Given the description of an element on the screen output the (x, y) to click on. 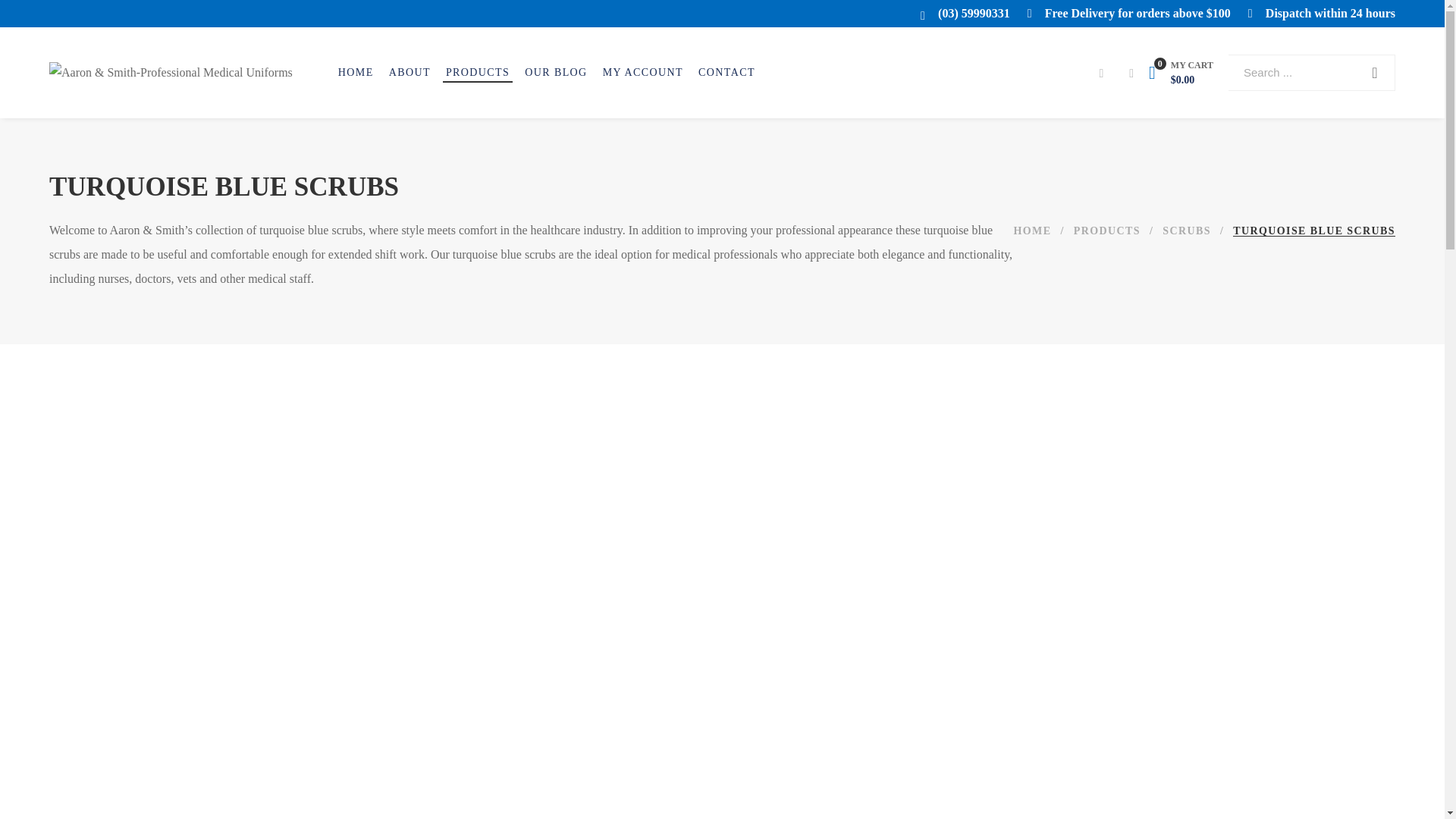
ABOUT (409, 72)
OUR BLOG (555, 72)
PRODUCTS (477, 72)
MY ACCOUNT (642, 72)
CONTACT (726, 72)
HOME (355, 72)
HOME (1032, 230)
PRODUCTS (1107, 230)
